Given the description of an element on the screen output the (x, y) to click on. 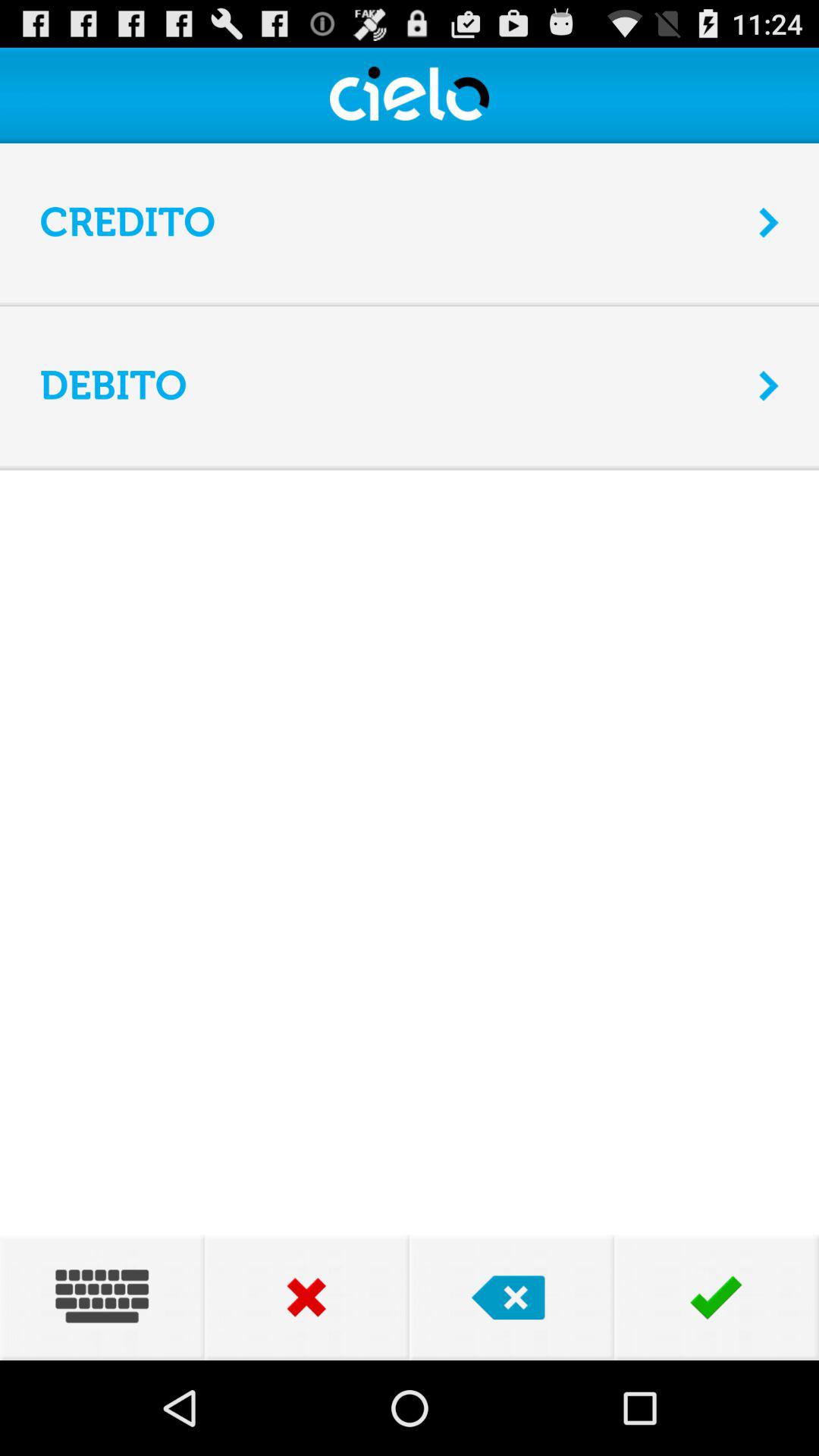
select item next to the debito (769, 385)
